Given the description of an element on the screen output the (x, y) to click on. 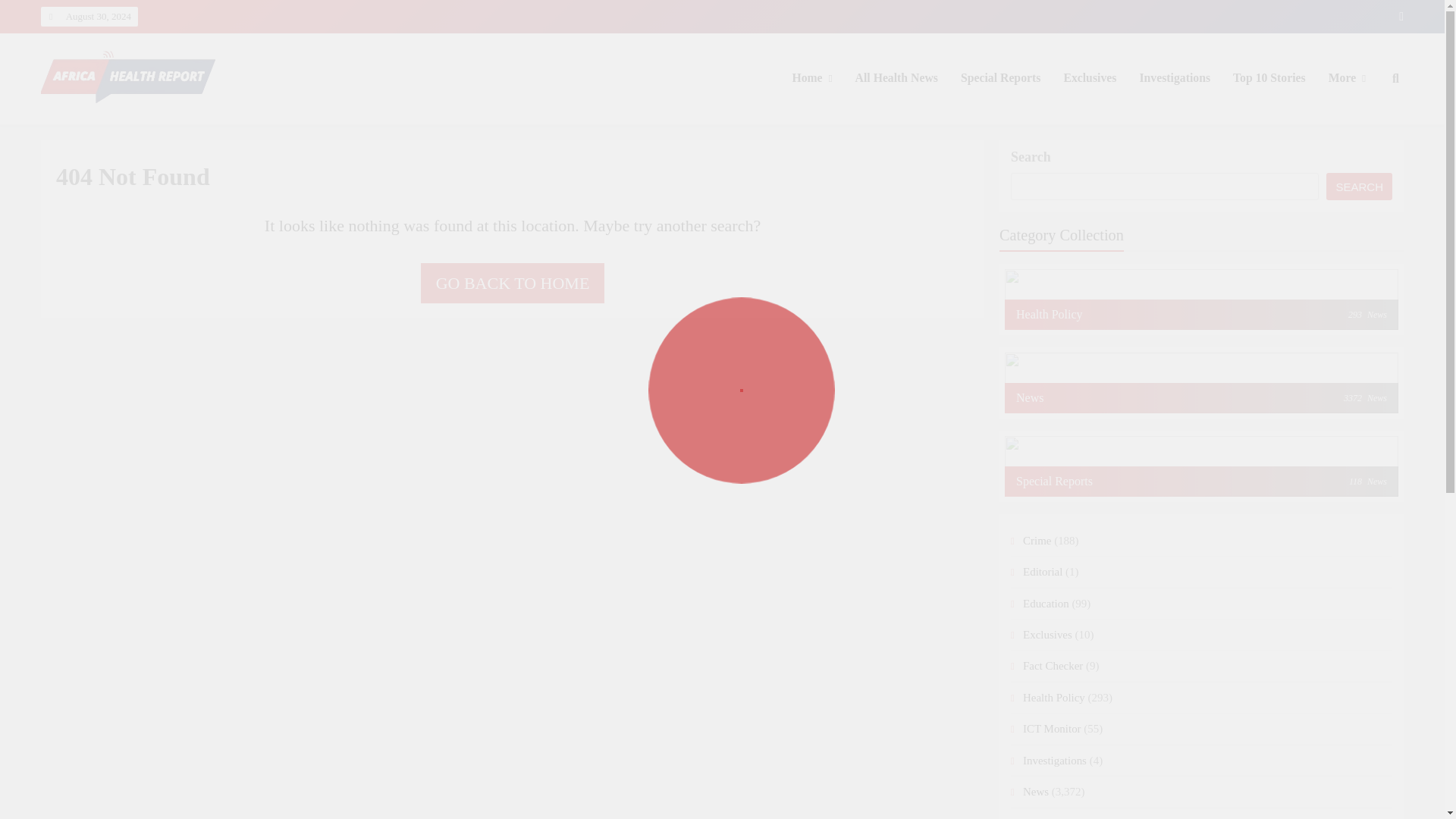
Home (811, 78)
Exclusives (1088, 77)
All Health News (896, 77)
Investigations (1173, 77)
Africa Health Report (145, 125)
Special Reports (1000, 77)
More (1347, 78)
Top 10 Stories (1269, 77)
